Given the description of an element on the screen output the (x, y) to click on. 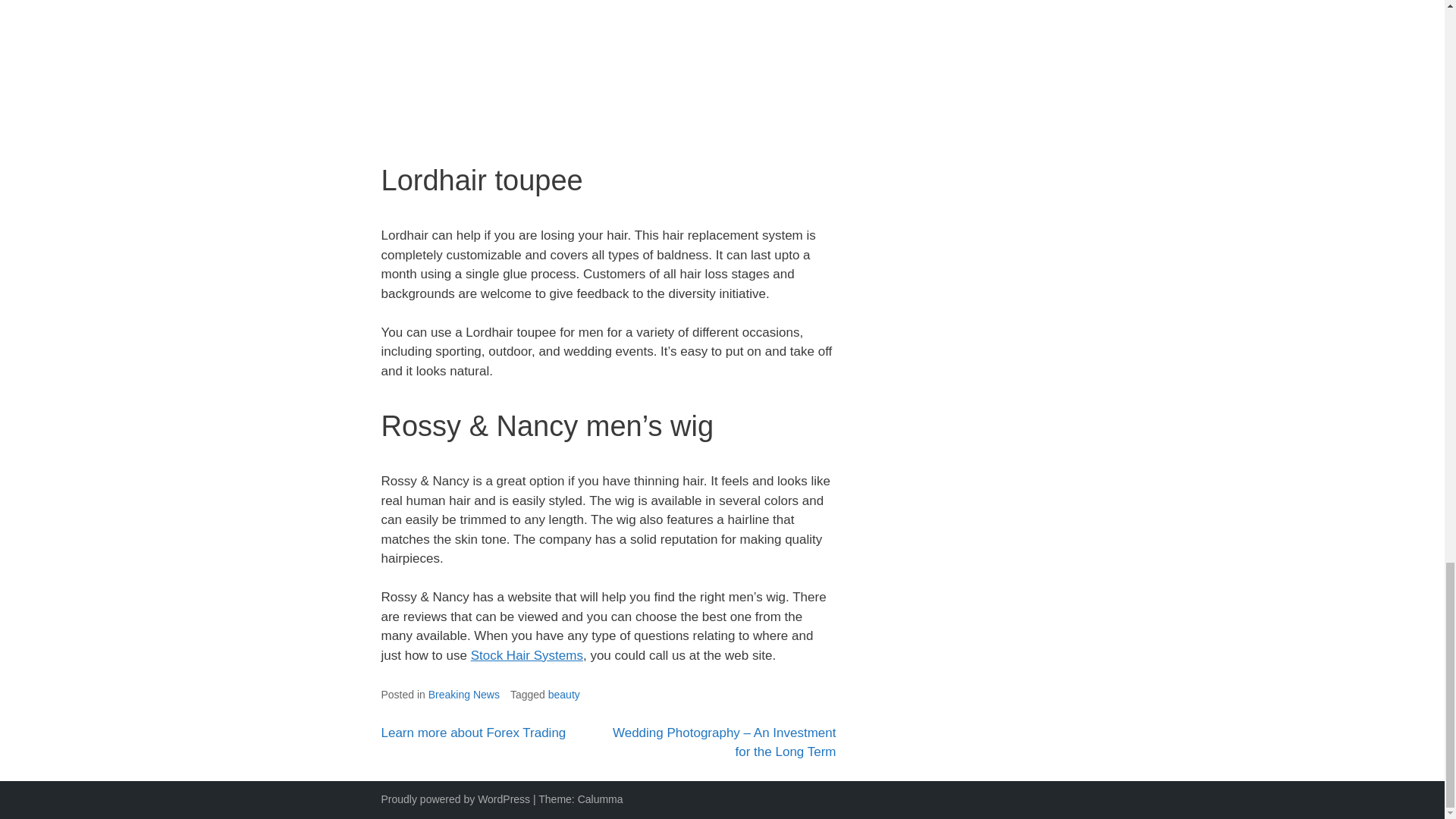
Learn more about Forex Trading (473, 732)
Stock Hair Systems (526, 655)
Breaking News (463, 694)
beauty (563, 694)
